Given the description of an element on the screen output the (x, y) to click on. 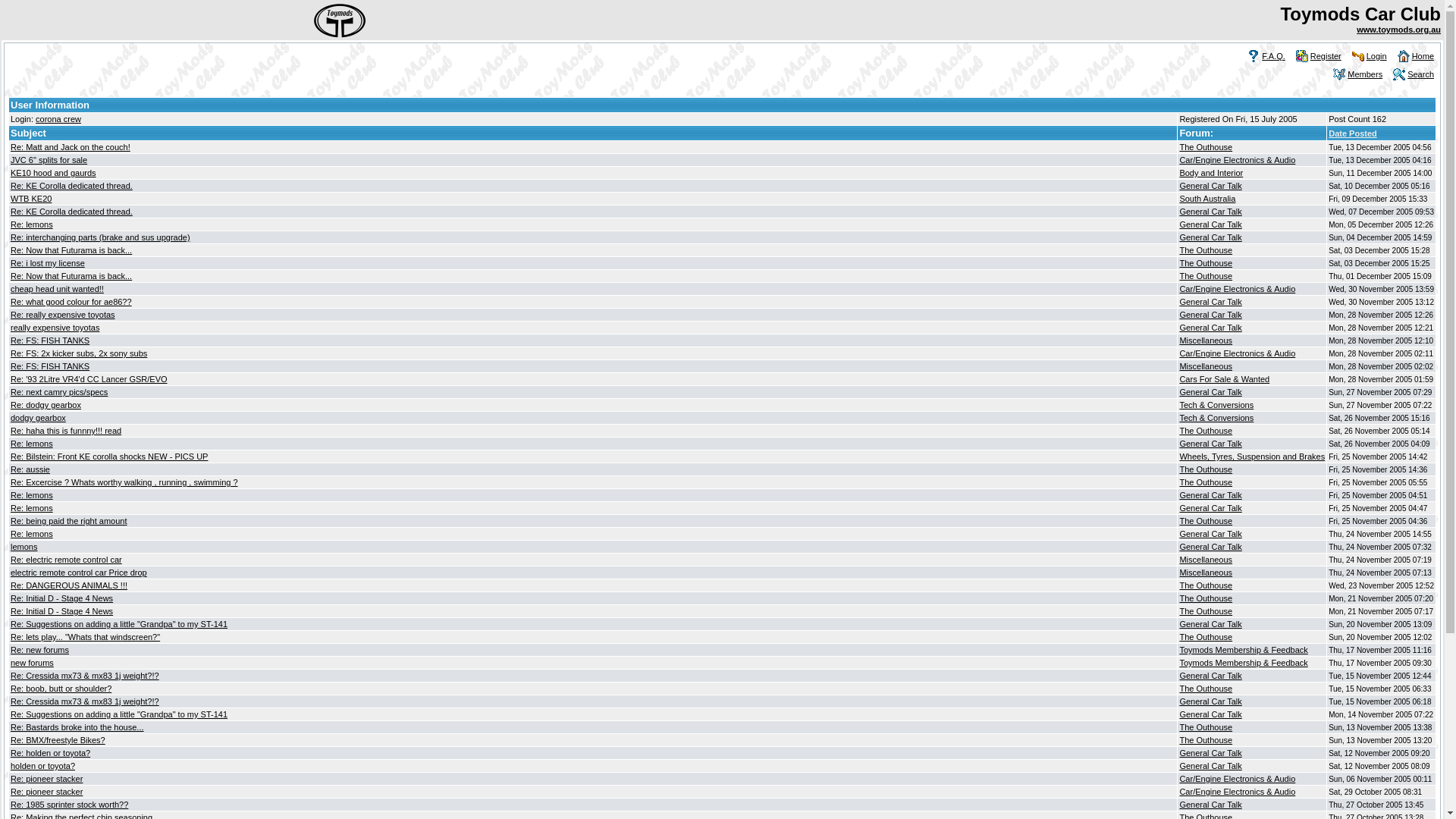
Re: pioneer stacker Element type: text (46, 778)
Re: KE Corolla dedicated thread. Element type: text (71, 211)
Re: lemons Element type: text (31, 443)
The Outhouse Element type: text (1205, 249)
Re: lemons Element type: text (31, 224)
Re: KE Corolla dedicated thread. Element type: text (71, 185)
Re: DANGEROUS ANIMALS !!! Element type: text (68, 584)
holden or toyota? Element type: text (42, 765)
General Car Talk Element type: text (1210, 675)
Re: lemons Element type: text (31, 494)
Re: Suggestions on adding a little "Grandpa" to my ST-141 Element type: text (118, 623)
Re: '93 2Litre VR4'd CC Lancer GSR/EVO Element type: text (88, 378)
General Car Talk Element type: text (1210, 701)
Re: holden or toyota? Element type: text (50, 752)
General Car Talk Element type: text (1210, 623)
Miscellaneous Element type: text (1205, 340)
The Outhouse Element type: text (1205, 520)
Re: next camry pics/specs Element type: text (58, 391)
General Car Talk Element type: text (1210, 327)
The Outhouse Element type: text (1205, 481)
Re: BMX/freestyle Bikes? Element type: text (57, 739)
JVC 6" splits for sale Element type: text (48, 159)
really expensive toyotas Element type: text (54, 327)
The Outhouse Element type: text (1205, 636)
Car/Engine Electronics & Audio Element type: text (1237, 778)
Car/Engine Electronics & Audio Element type: text (1237, 352)
corona crew Element type: text (58, 118)
Re: new forums Element type: text (39, 649)
The Outhouse Element type: text (1205, 688)
Search Element type: text (1420, 73)
Members Element type: text (1364, 73)
Re: lemons Element type: text (31, 507)
electric remote control car Price drop Element type: text (78, 572)
Re: Matt and Jack on the couch! Element type: text (70, 146)
The Outhouse Element type: text (1205, 275)
General Car Talk Element type: text (1210, 224)
Re: interchanging parts (brake and sus upgrade) Element type: text (100, 236)
Date Posted Element type: text (1352, 133)
Car/Engine Electronics & Audio Element type: text (1237, 791)
Car/Engine Electronics & Audio Element type: text (1237, 159)
Tech & Conversions Element type: text (1216, 404)
Re: haha this is funnny!!! read Element type: text (65, 430)
Miscellaneous Element type: text (1205, 572)
cheap head unit wanted!! Element type: text (56, 288)
The Outhouse Element type: text (1205, 726)
Re: Suggestions on adding a little "Grandpa" to my ST-141 Element type: text (118, 713)
General Car Talk Element type: text (1210, 752)
Tech & Conversions Element type: text (1216, 417)
The Outhouse Element type: text (1205, 739)
Re: being paid the right amount Element type: text (68, 520)
Re: what good colour for ae86?? Element type: text (70, 301)
The Outhouse Element type: text (1205, 262)
www.toymods.org.au Element type: text (1398, 29)
The Outhouse Element type: text (1205, 468)
The Outhouse Element type: text (1205, 597)
Re: FS: FISH TANKS Element type: text (49, 365)
F.A.Q. Element type: text (1273, 55)
new forums Element type: text (31, 662)
Re: Cressida mx73 & mx83 1j weight?!? Element type: text (84, 701)
Re: Cressida mx73 & mx83 1j weight?!? Element type: text (84, 675)
Re: pioneer stacker Element type: text (46, 791)
Re: dodgy gearbox Element type: text (45, 404)
General Car Talk Element type: text (1210, 301)
Home Element type: text (1423, 55)
Re: Bastards broke into the house... Element type: text (77, 726)
General Car Talk Element type: text (1210, 236)
Toymods Membership & Feedback Element type: text (1243, 662)
South Australia Element type: text (1207, 198)
Re: Excercise ? Whats worthy walking , running , swimming ? Element type: text (124, 481)
Wheels, Tyres, Suspension and Brakes Element type: text (1251, 456)
Body and Interior Element type: text (1210, 172)
Re: lets play... "Whats that windscreen?" Element type: text (85, 636)
Login Element type: text (1376, 55)
WTB KE20 Element type: text (30, 198)
The Outhouse Element type: text (1205, 584)
Re: really expensive toyotas Element type: text (62, 314)
General Car Talk Element type: text (1210, 804)
Re: boob, butt or shoulder? Element type: text (60, 688)
Re: 1985 sprinter stock worth?? Element type: text (69, 804)
Miscellaneous Element type: text (1205, 365)
Re: FS: 2x kicker subs, 2x sony subs Element type: text (78, 352)
General Car Talk Element type: text (1210, 533)
General Car Talk Element type: text (1210, 546)
Miscellaneous Element type: text (1205, 559)
The Outhouse Element type: text (1205, 146)
Re: FS: FISH TANKS Element type: text (49, 340)
Re: i lost my license Element type: text (47, 262)
Car/Engine Electronics & Audio Element type: text (1237, 288)
General Car Talk Element type: text (1210, 185)
Re: Bilstein: Front KE corolla shocks NEW - PICS UP Element type: text (108, 456)
Re: lemons Element type: text (31, 533)
General Car Talk Element type: text (1210, 443)
Re: Initial D - Stage 4 News Element type: text (61, 597)
KE10 hood and gaurds Element type: text (53, 172)
General Car Talk Element type: text (1210, 314)
Re: Initial D - Stage 4 News Element type: text (61, 610)
General Car Talk Element type: text (1210, 211)
Re: Now that Futurama is back... Element type: text (70, 249)
General Car Talk Element type: text (1210, 765)
General Car Talk Element type: text (1210, 507)
lemons Element type: text (23, 546)
Register Element type: text (1325, 55)
General Car Talk Element type: text (1210, 494)
Re: Now that Futurama is back... Element type: text (70, 275)
The Outhouse Element type: text (1205, 430)
Cars For Sale & Wanted Element type: text (1224, 378)
Toymods Membership & Feedback Element type: text (1243, 649)
Re: electric remote control car Element type: text (66, 559)
General Car Talk Element type: text (1210, 391)
Re: aussie Element type: text (30, 468)
General Car Talk Element type: text (1210, 713)
The Outhouse Element type: text (1205, 610)
dodgy gearbox Element type: text (37, 417)
